Given the description of an element on the screen output the (x, y) to click on. 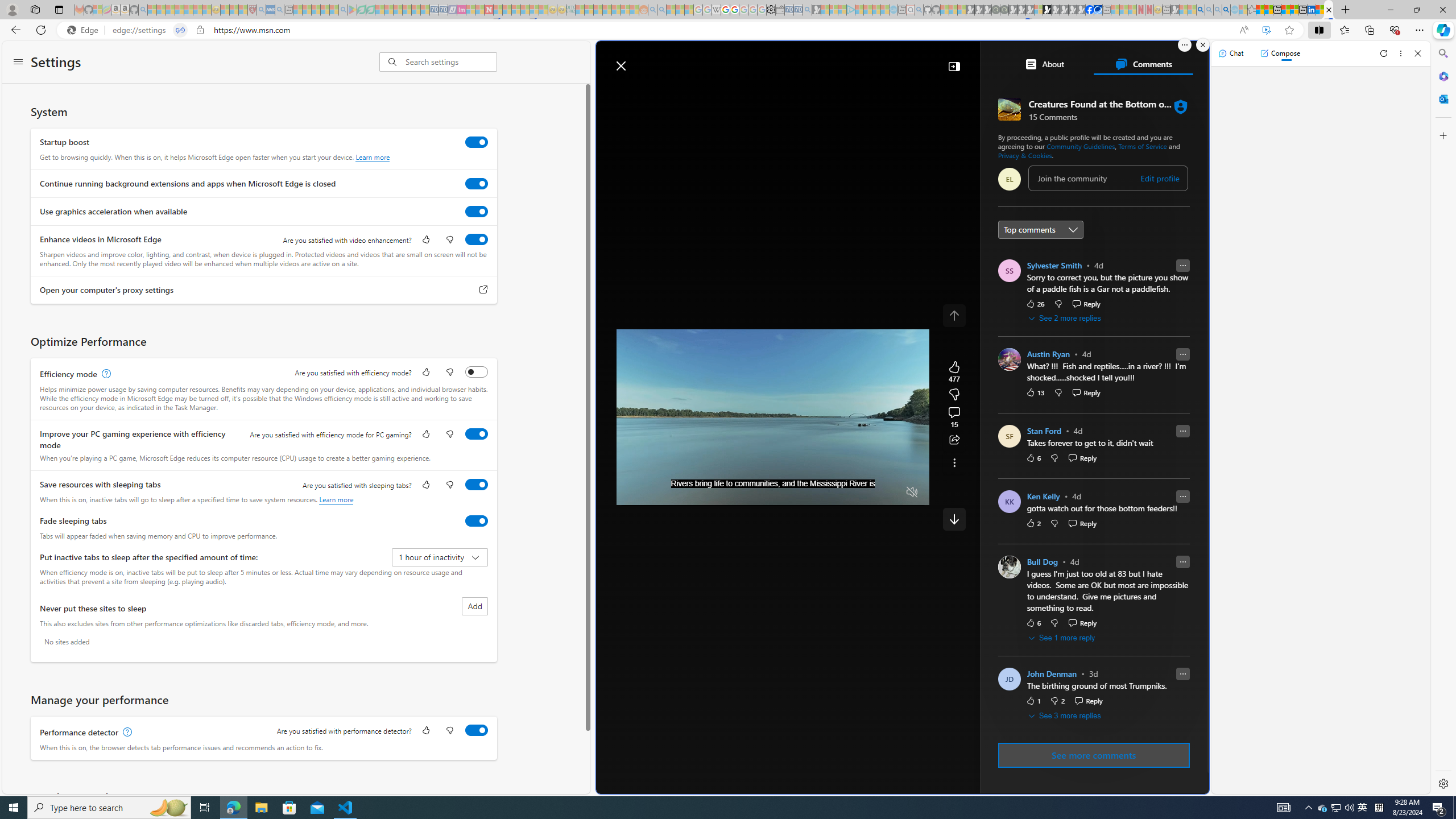
Settings menu (18, 62)
See 1 more reply (1062, 638)
Bull Dog (1042, 562)
Edit profile (1159, 178)
2 Like (1032, 523)
